Given the description of an element on the screen output the (x, y) to click on. 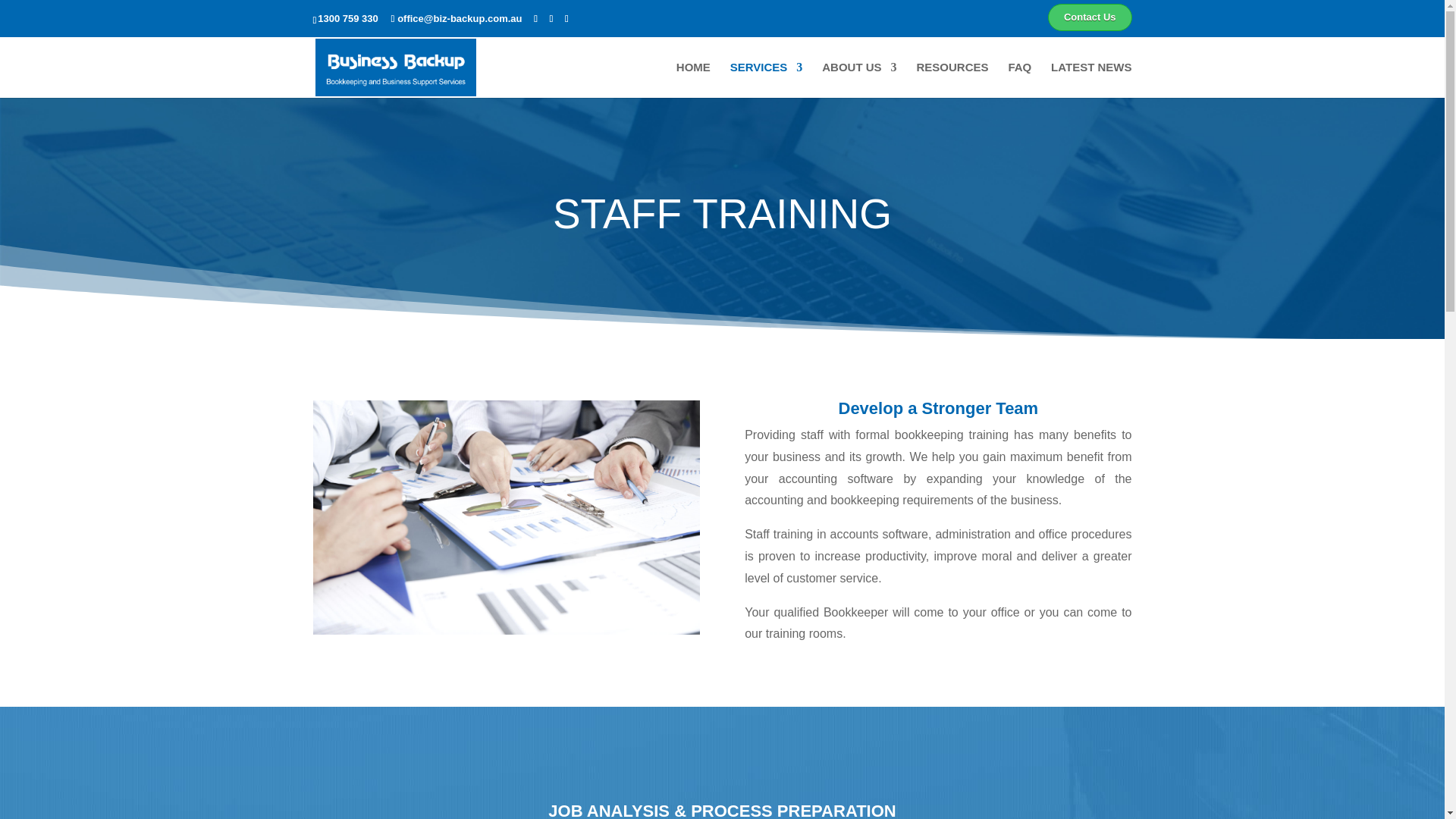
ABOUT US (859, 79)
HOME (693, 79)
LATEST NEWS (1091, 79)
SERVICES (766, 79)
Contact Us (1090, 20)
RESOURCES (951, 79)
